Given the description of an element on the screen output the (x, y) to click on. 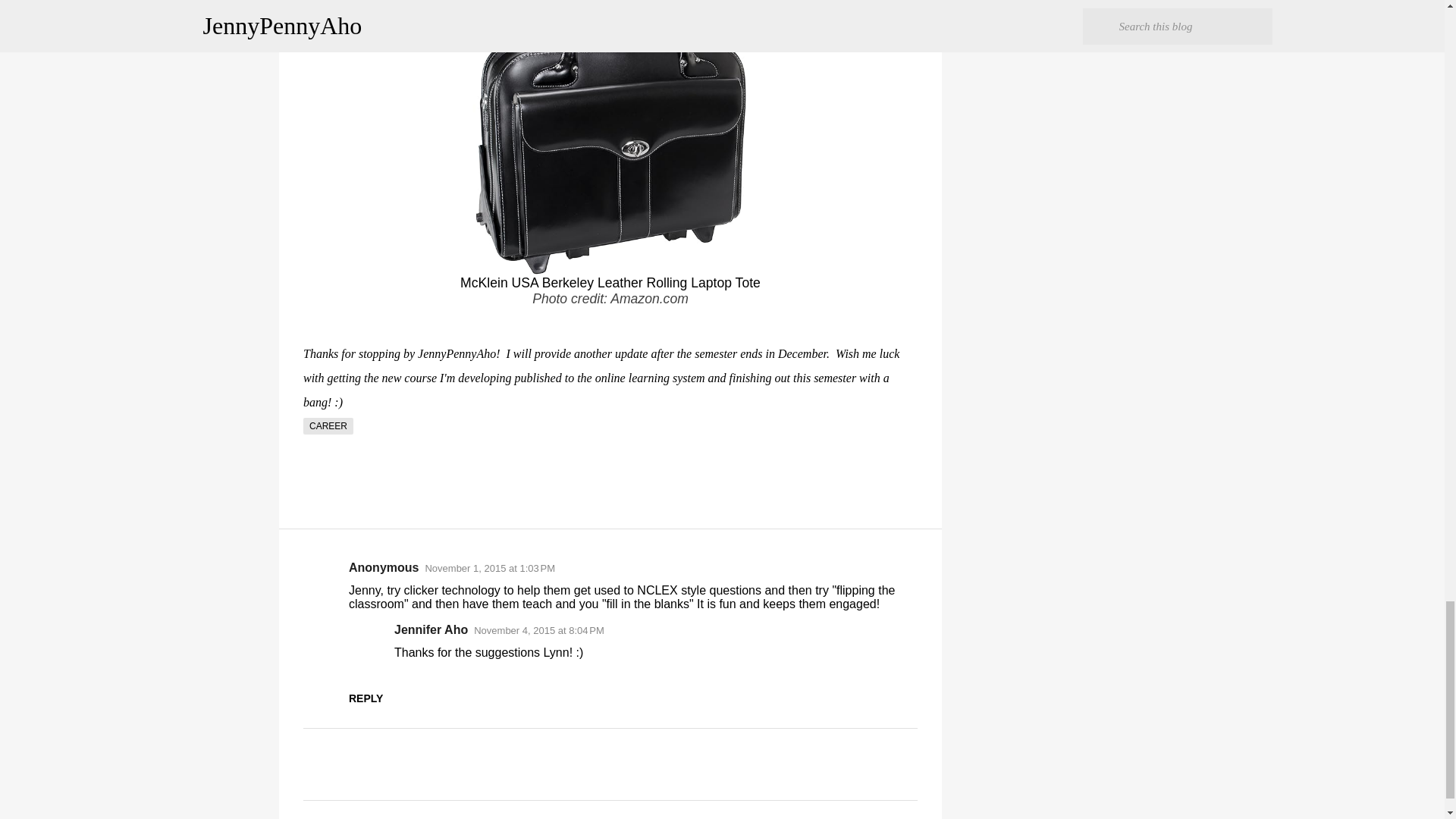
McKlein USA Berkeley Leather Rolling Laptop Tote (610, 282)
Jennifer Aho (430, 629)
REPLY (365, 698)
CAREER (327, 425)
